Given the description of an element on the screen output the (x, y) to click on. 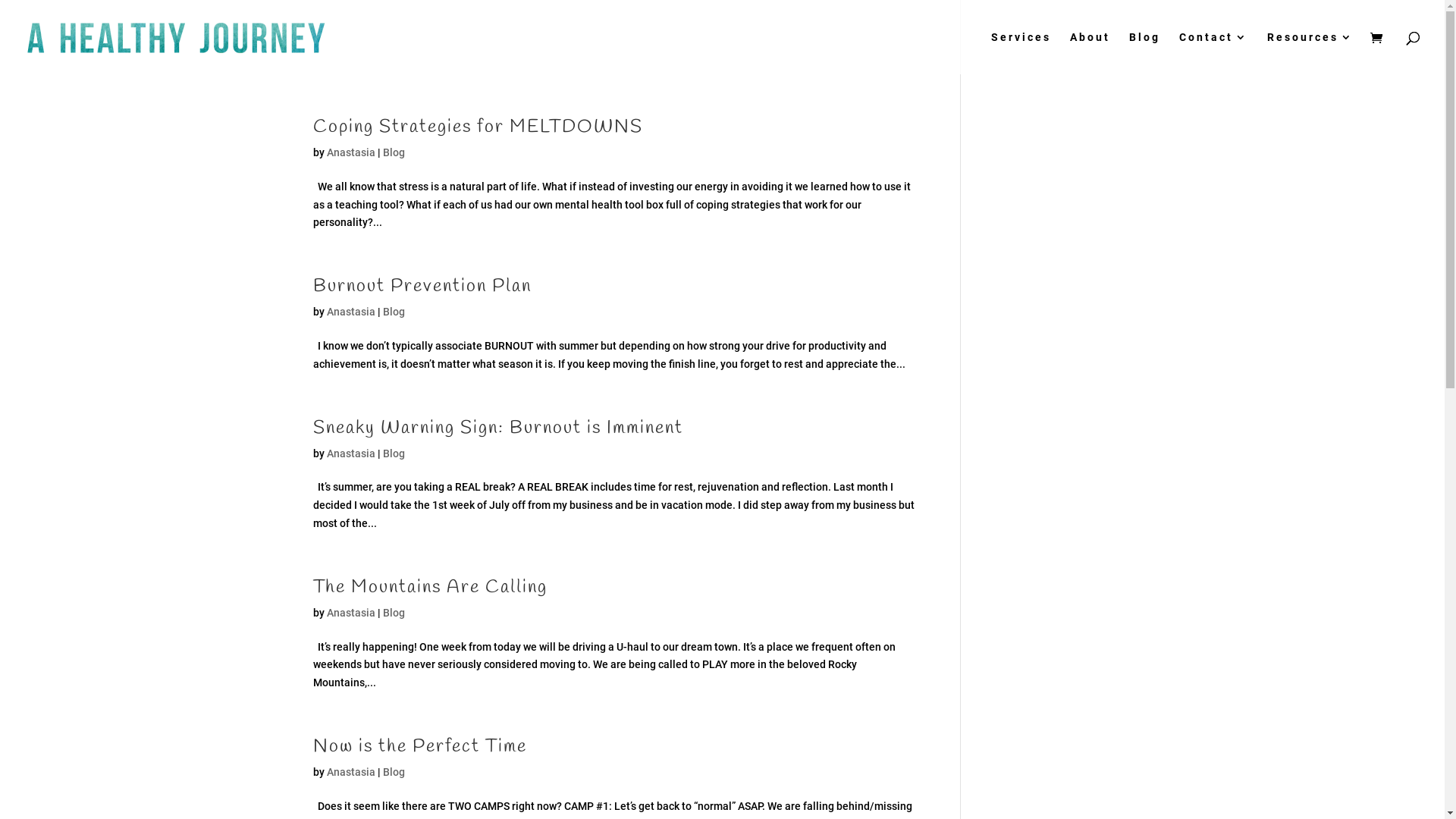
Coping Strategies for MELTDOWNS Element type: text (477, 127)
Anastasia Element type: text (350, 612)
Anastasia Element type: text (350, 152)
About Element type: text (1090, 52)
Burnout Prevention Plan Element type: text (421, 286)
Now is the Perfect Time Element type: text (419, 746)
Blog Element type: text (393, 152)
Blog Element type: text (1144, 52)
Blog Element type: text (393, 453)
Anastasia Element type: text (350, 453)
Blog Element type: text (393, 771)
Sneaky Warning Sign: Burnout is Imminent Element type: text (497, 428)
Anastasia Element type: text (350, 771)
Resources Element type: text (1310, 52)
Blog Element type: text (393, 612)
Contact Element type: text (1213, 52)
Anastasia Element type: text (350, 311)
The Mountains Are Calling Element type: text (429, 587)
Services Element type: text (1021, 52)
Blog Element type: text (393, 311)
